Given the description of an element on the screen output the (x, y) to click on. 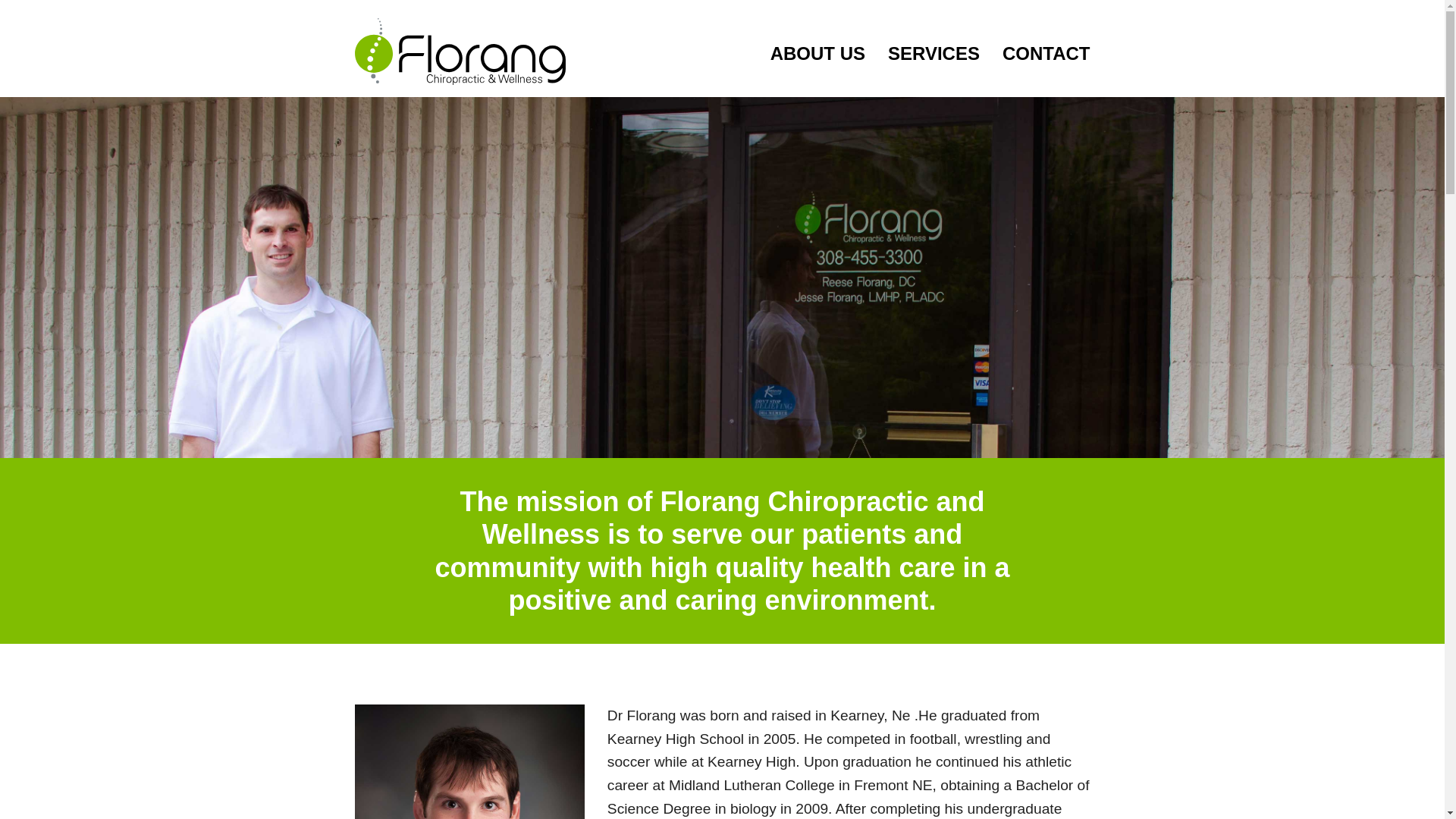
CONTACT (1040, 53)
ABOUT US (817, 53)
SERVICES (933, 53)
Home (460, 51)
